Given the description of an element on the screen output the (x, y) to click on. 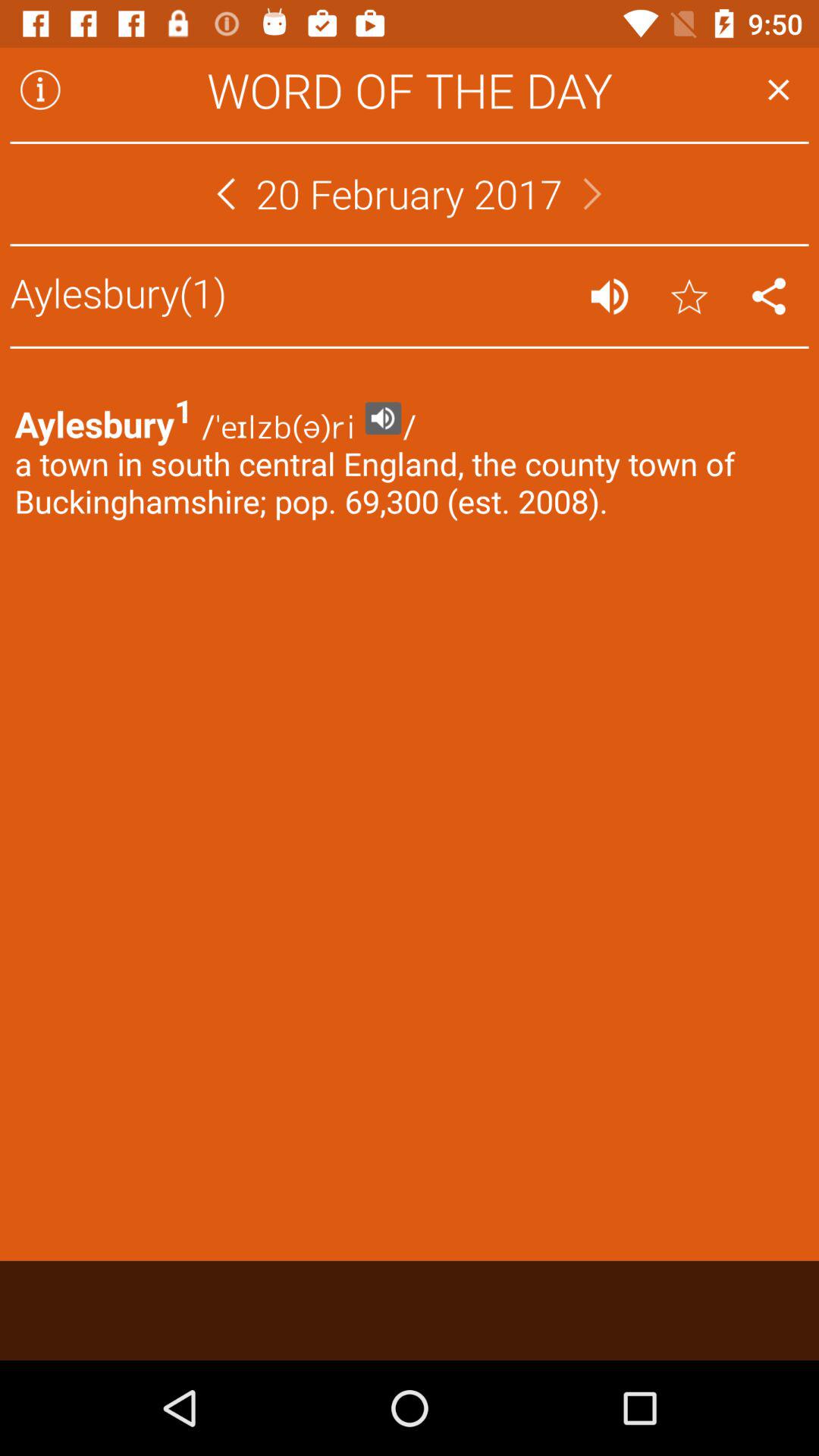
turn on app to the right of aylesbury(1) app (609, 296)
